Given the description of an element on the screen output the (x, y) to click on. 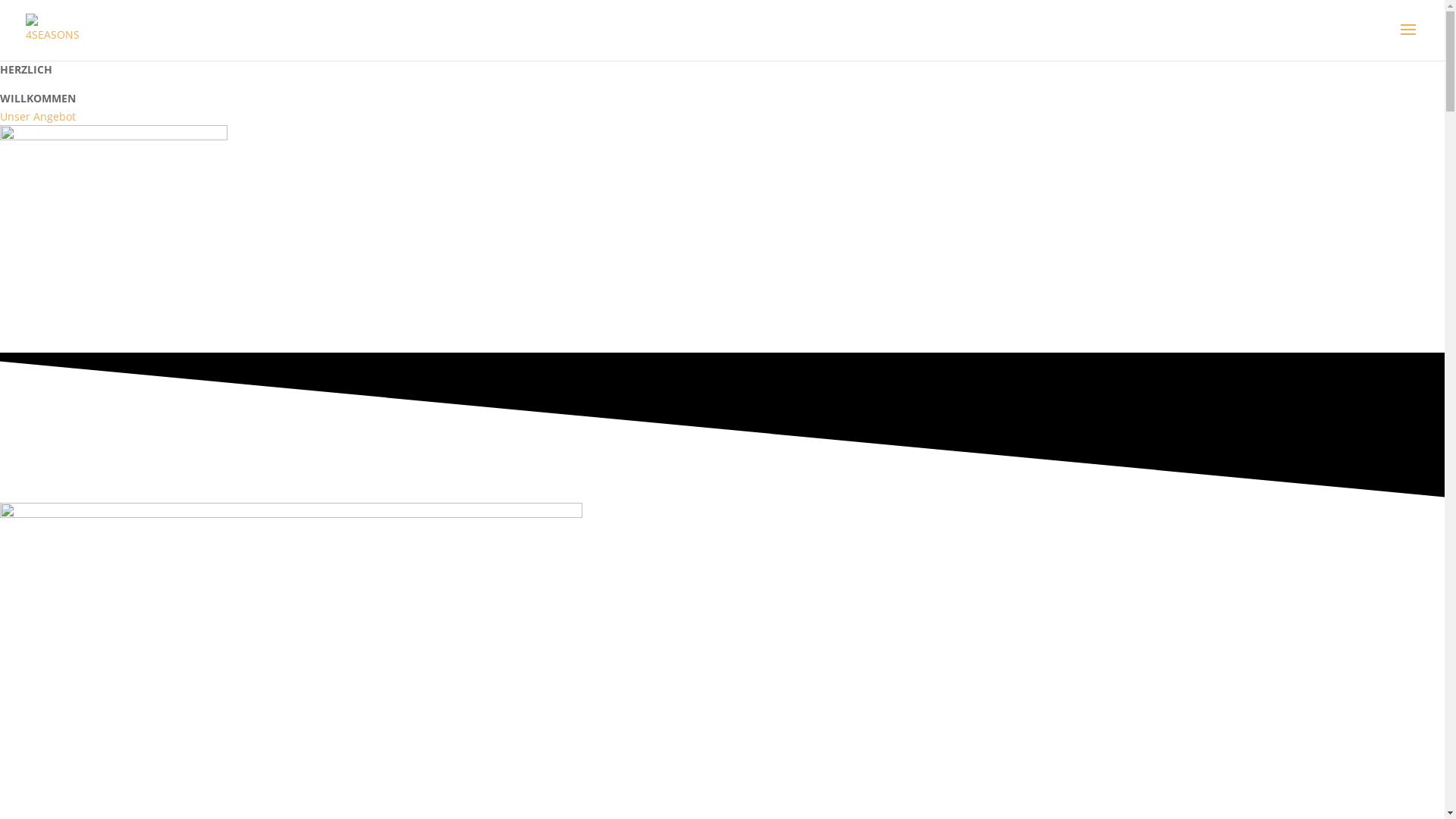
Unser Angebot Element type: text (37, 116)
